Given the description of an element on the screen output the (x, y) to click on. 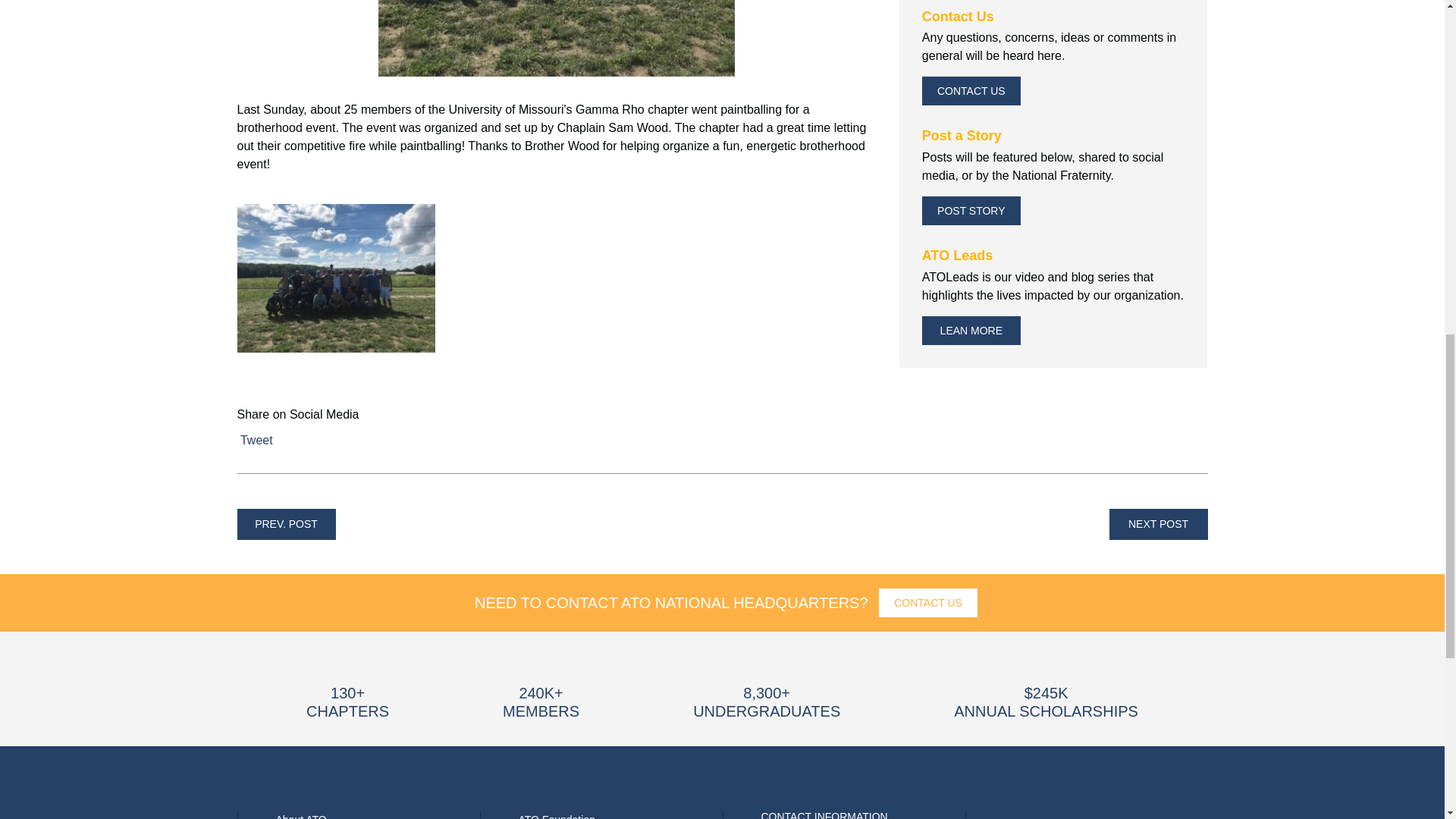
Post Story (970, 210)
Lean More (970, 330)
About ATO (301, 816)
ATO Foundation (556, 816)
PREV. POST (284, 523)
CONTACT US (927, 602)
POST STORY (970, 210)
CONTACT US (970, 90)
LEAN MORE (970, 330)
Contact Us (970, 90)
